Given the description of an element on the screen output the (x, y) to click on. 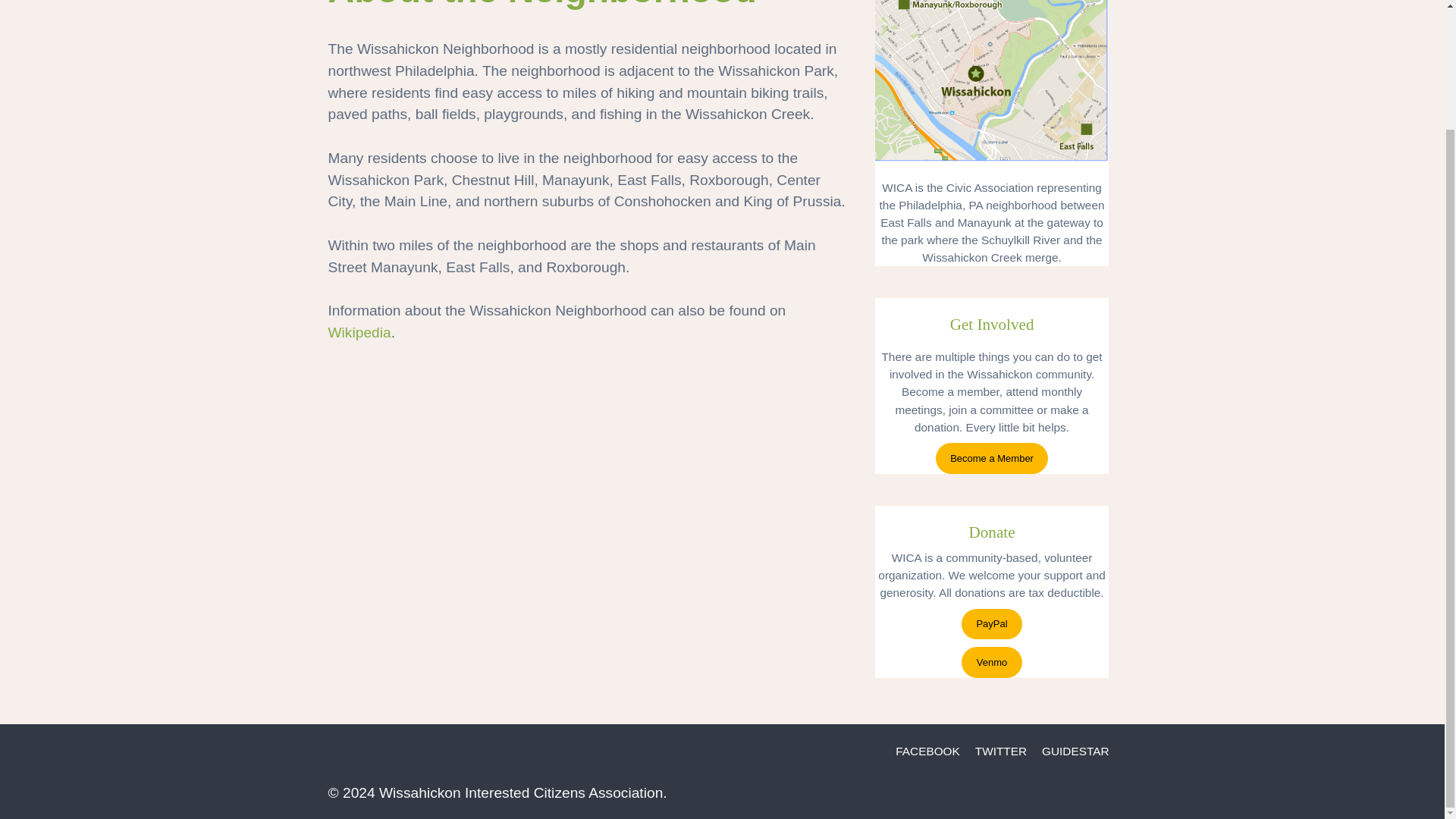
PayPal (991, 624)
TWITTER (1000, 750)
GUIDESTAR (1074, 750)
Wikipedia (358, 332)
Venmo (991, 662)
FACEBOOK (928, 750)
Become a Member (992, 458)
